Given the description of an element on the screen output the (x, y) to click on. 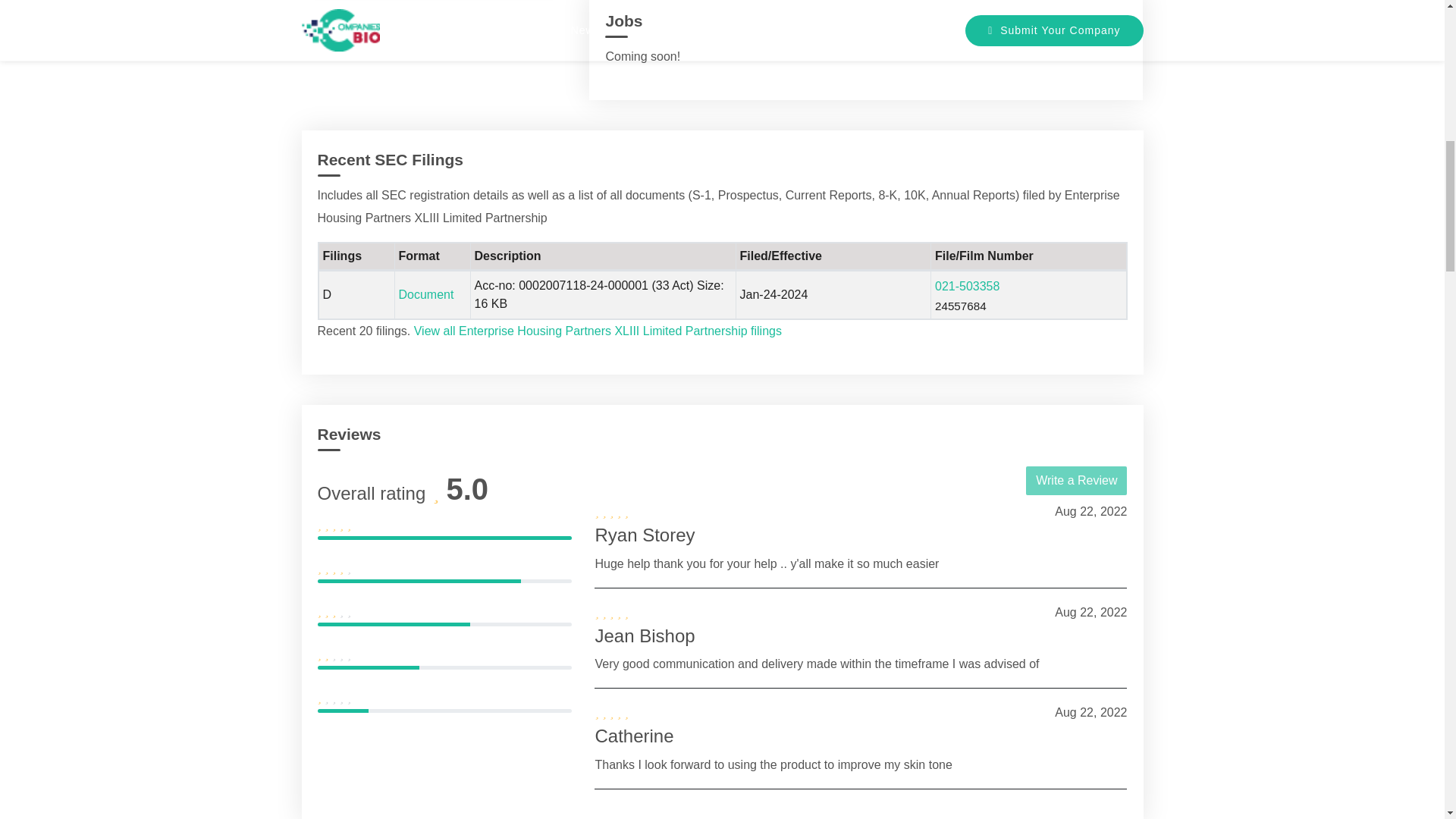
Document (426, 294)
021-503358 (966, 286)
Write a Review (1076, 480)
